Given the description of an element on the screen output the (x, y) to click on. 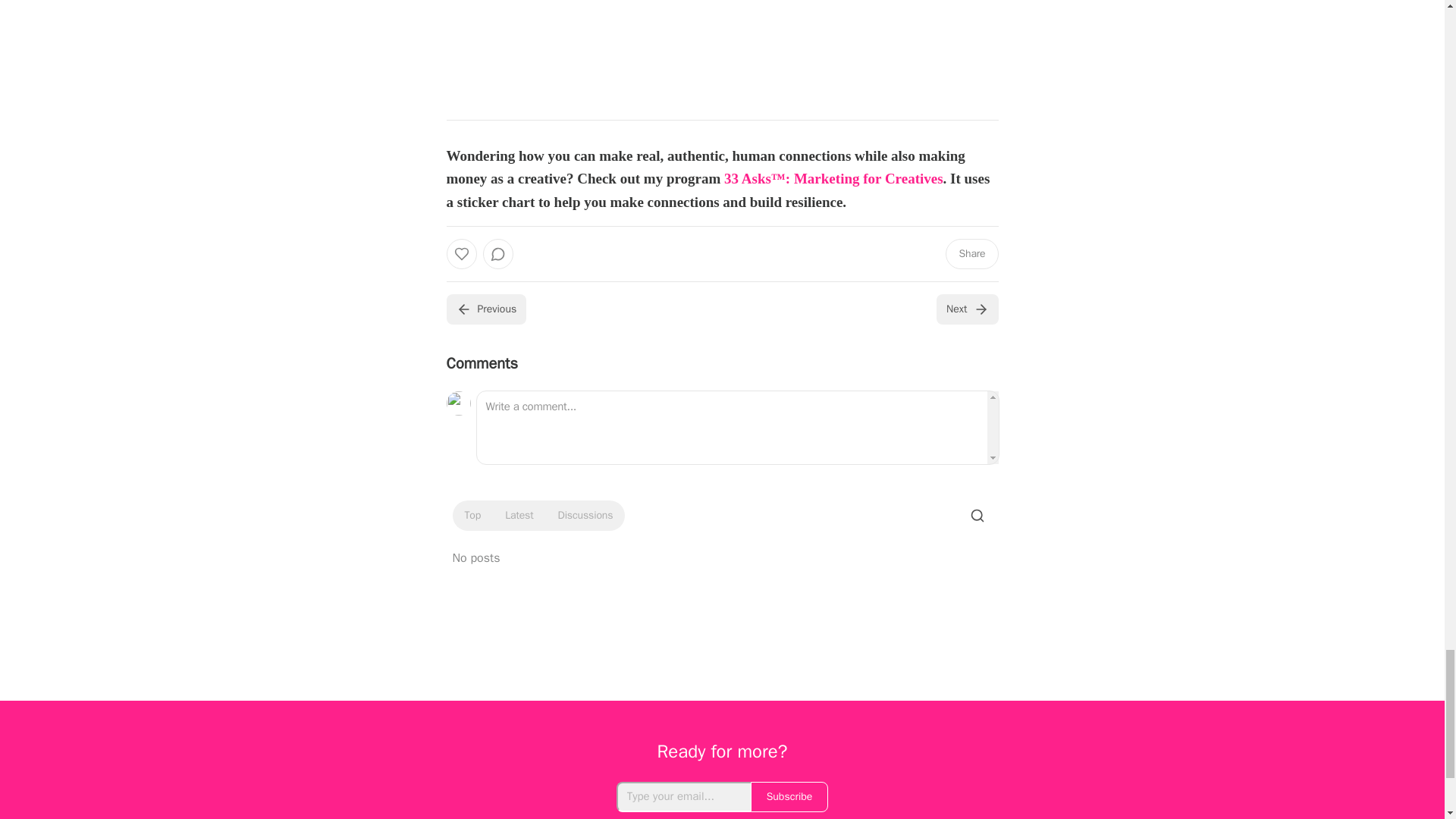
Share (970, 254)
